Given the description of an element on the screen output the (x, y) to click on. 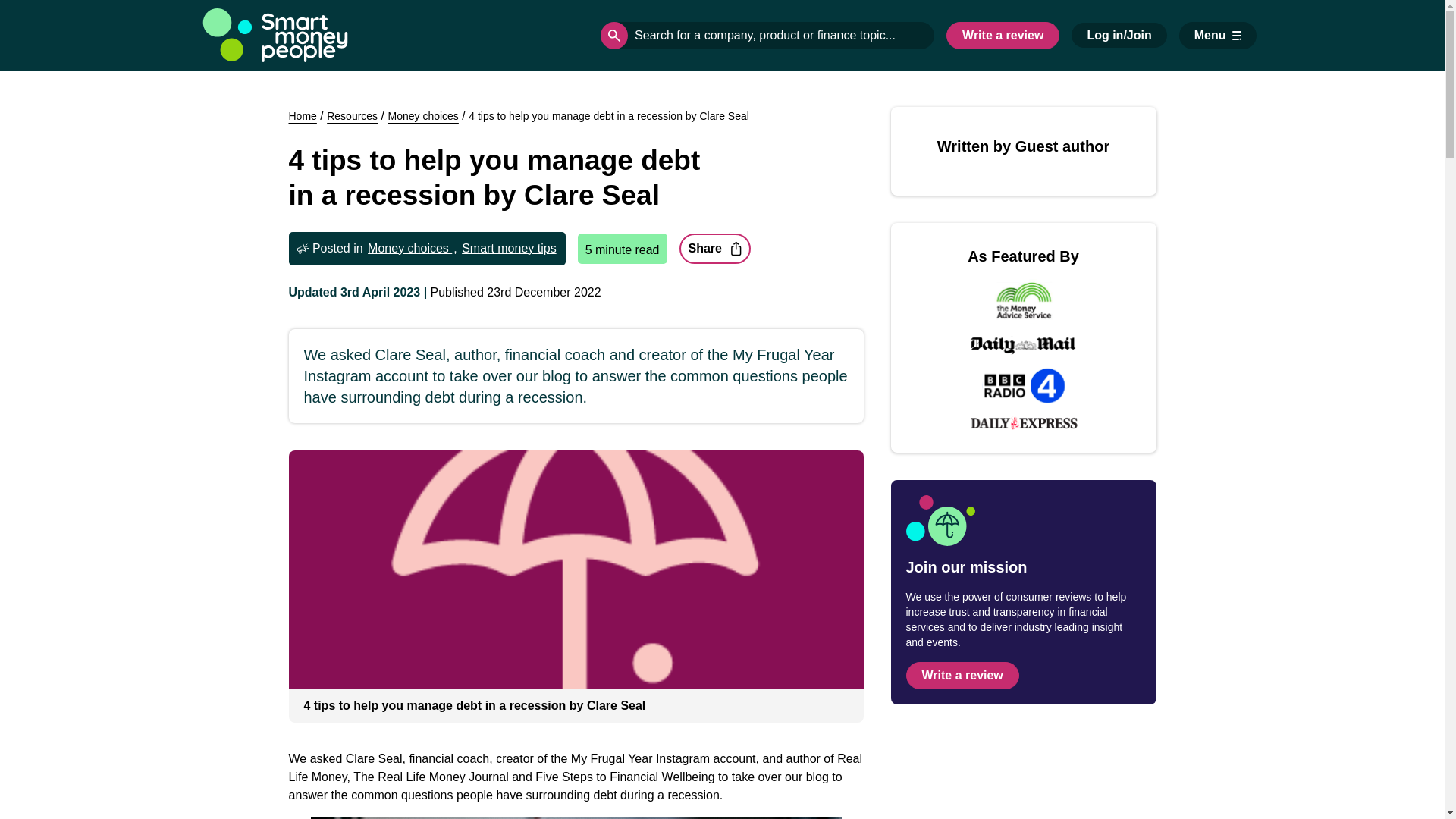
Write a review (1002, 34)
Menu (1217, 34)
Search (613, 34)
